Given the description of an element on the screen output the (x, y) to click on. 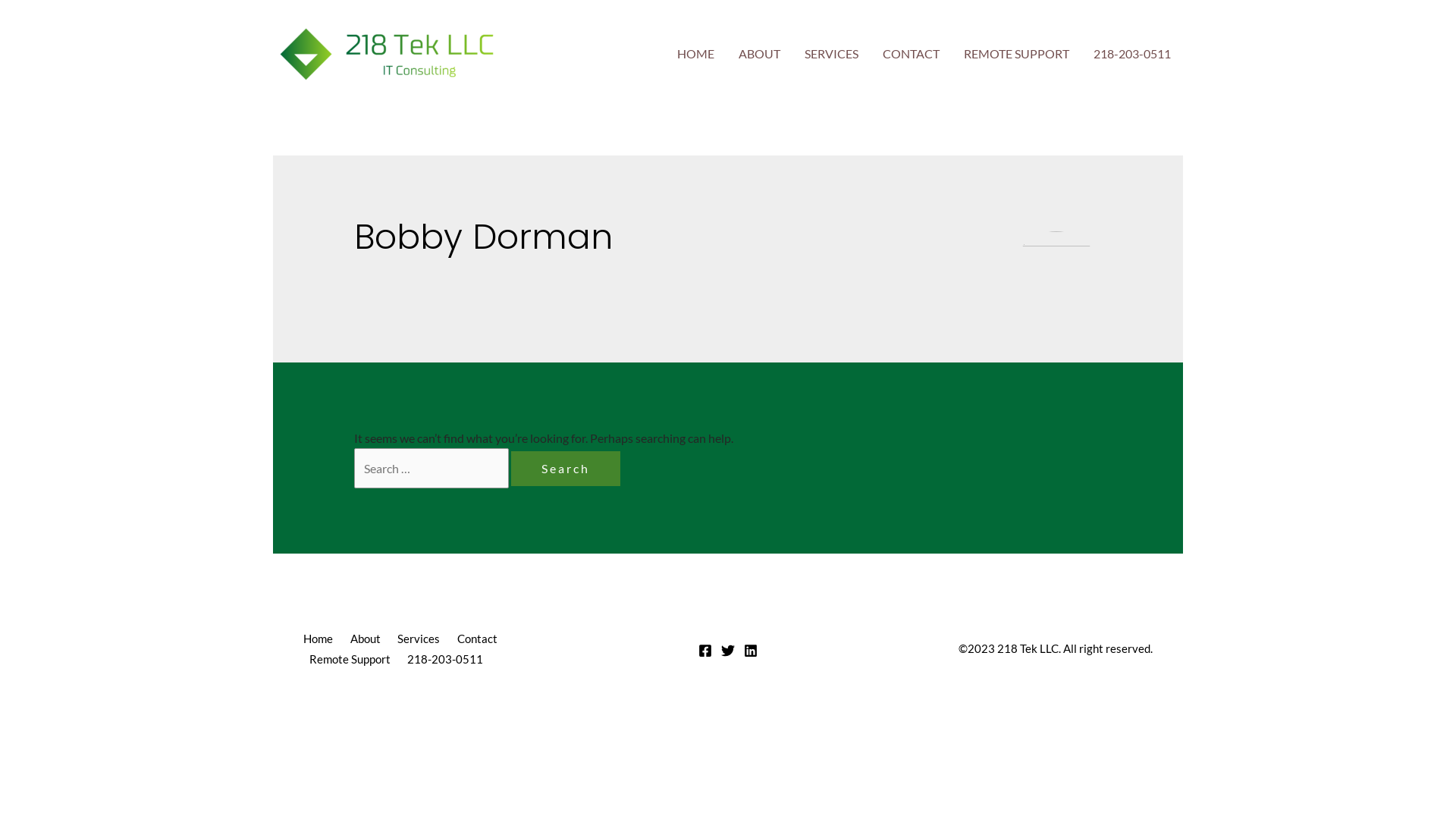
About Element type: text (368, 638)
Search Element type: text (565, 468)
CONTACT Element type: text (910, 52)
ABOUT Element type: text (759, 52)
Home Element type: text (323, 638)
Remote Support Element type: text (352, 659)
218-203-0511 Element type: text (448, 659)
218-203-0511 Element type: text (1132, 52)
SERVICES Element type: text (831, 52)
REMOTE SUPPORT Element type: text (1016, 52)
Contact Element type: text (479, 638)
HOME Element type: text (695, 52)
Services Element type: text (421, 638)
